Given the description of an element on the screen output the (x, y) to click on. 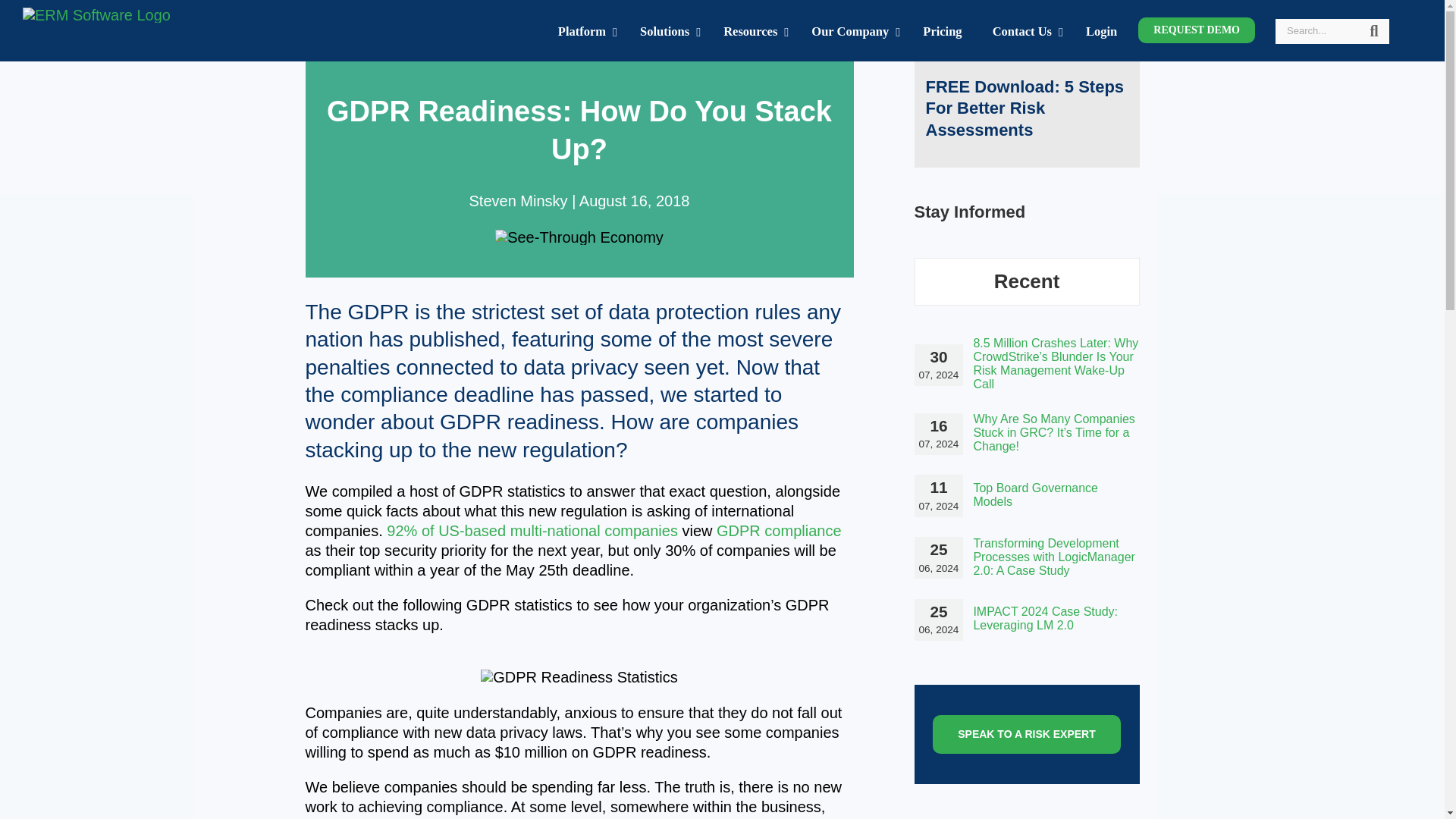
Login (1101, 30)
Platform (583, 30)
GDPR kc header icon (579, 237)
Solutions (665, 30)
